Given the description of an element on the screen output the (x, y) to click on. 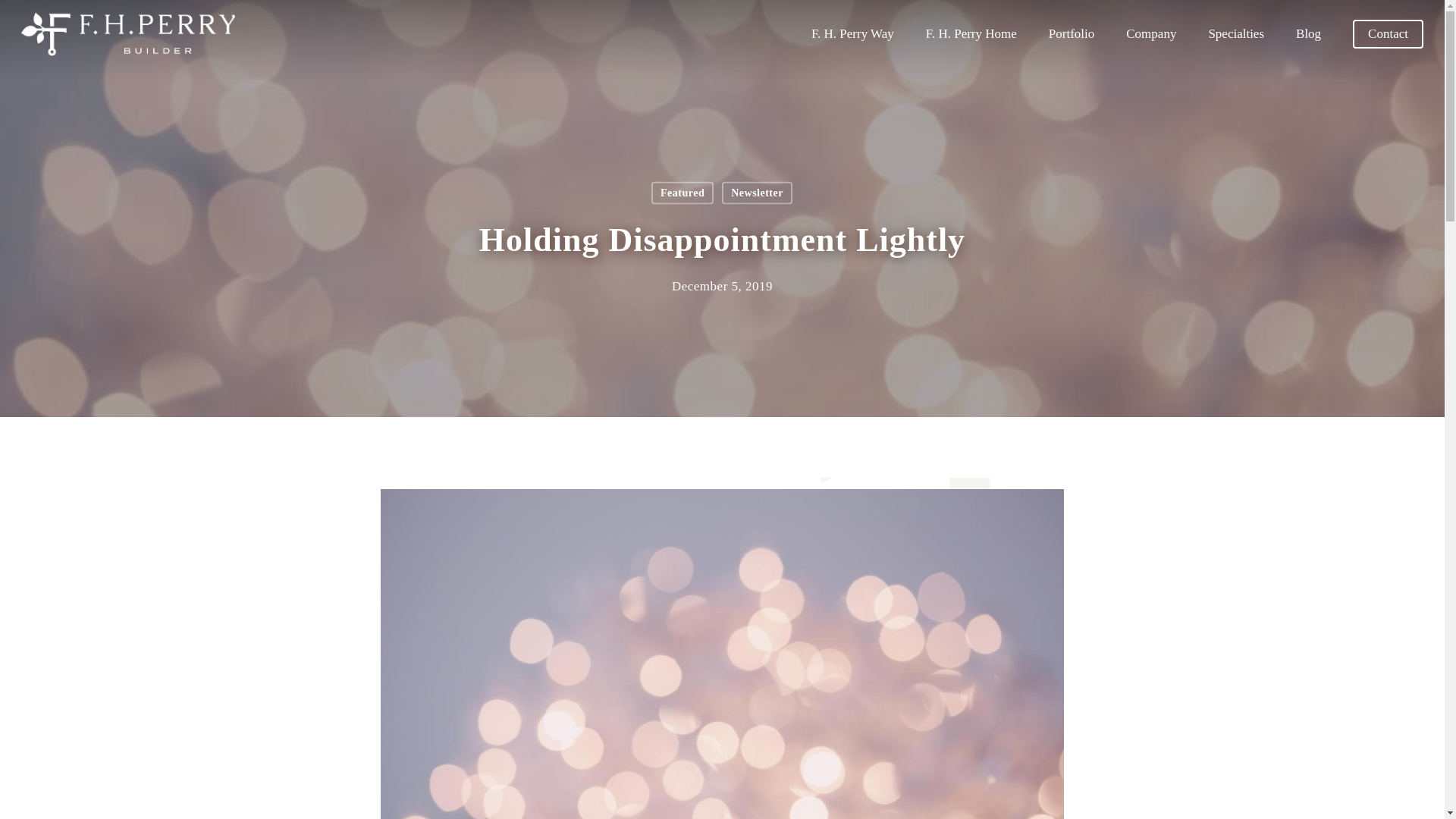
Blog (1307, 33)
Featured (681, 192)
Portfolio (1071, 33)
F. H. Perry Home (971, 33)
Specialties (1235, 33)
F. H. Perry Way (851, 33)
Contact (1387, 33)
Newsletter (757, 192)
Company (1150, 33)
